Given the description of an element on the screen output the (x, y) to click on. 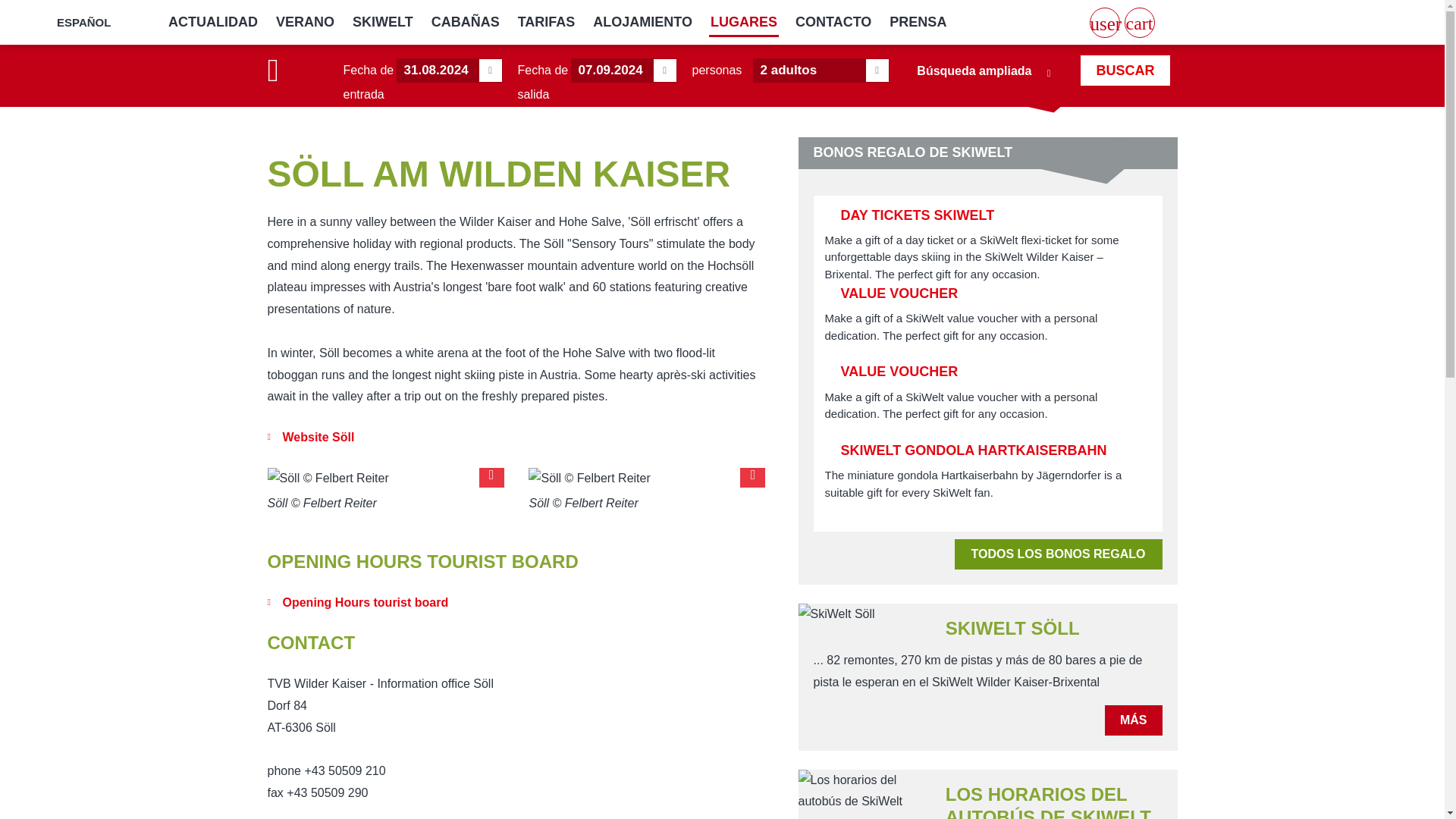
ACTUALIDAD (212, 22)
Buscar (1124, 70)
2 adultos (820, 70)
07.09.2024 (623, 70)
31.08.2024 (449, 70)
VERANO (304, 22)
